Given the description of an element on the screen output the (x, y) to click on. 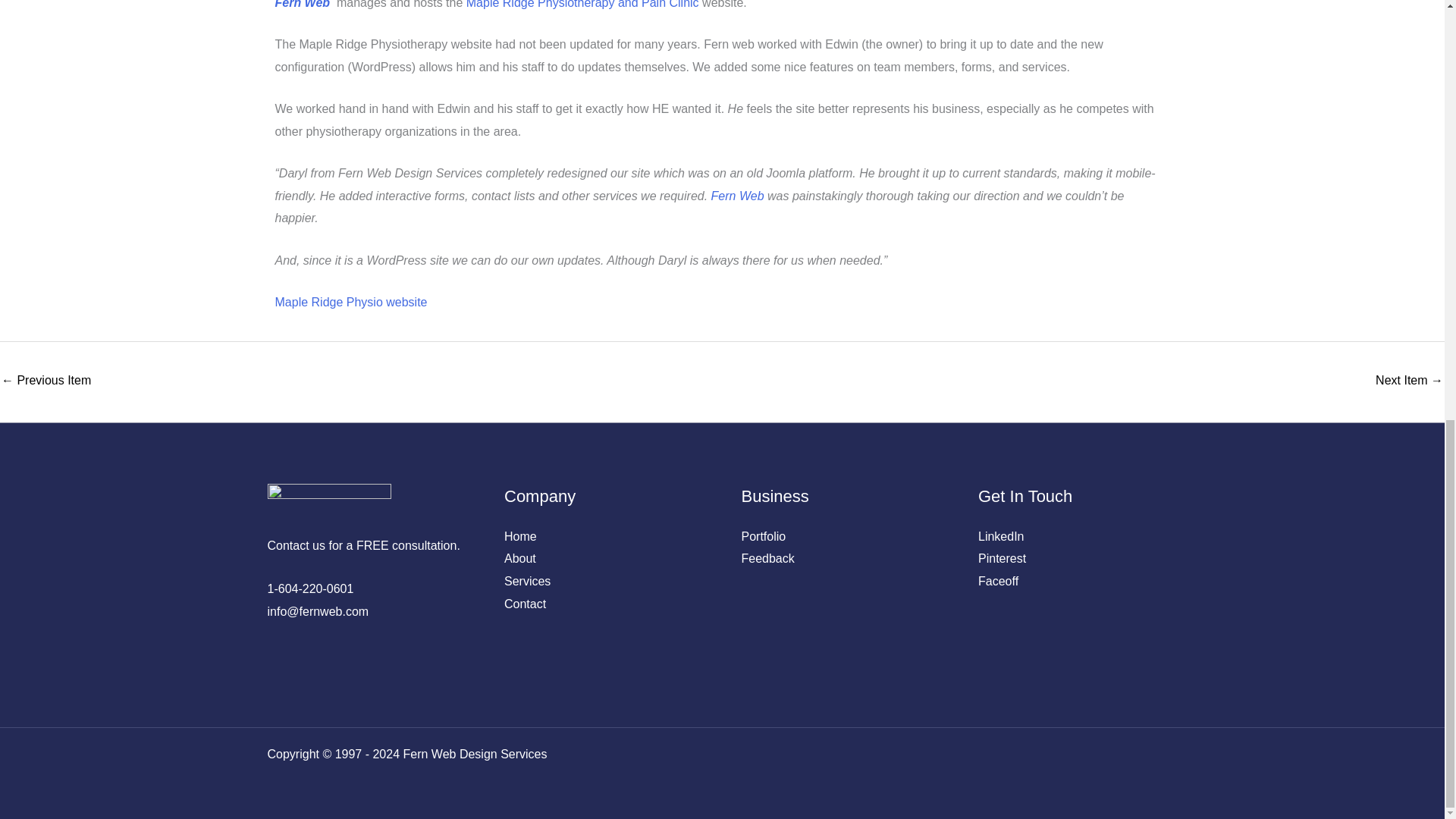
Maple Ridge Physiotherapy and Pain Clinic (581, 4)
Fern Web (304, 4)
Nine Mile Metals (45, 381)
Dynamic scheduling system (1408, 381)
Fern Web (737, 195)
